Given the description of an element on the screen output the (x, y) to click on. 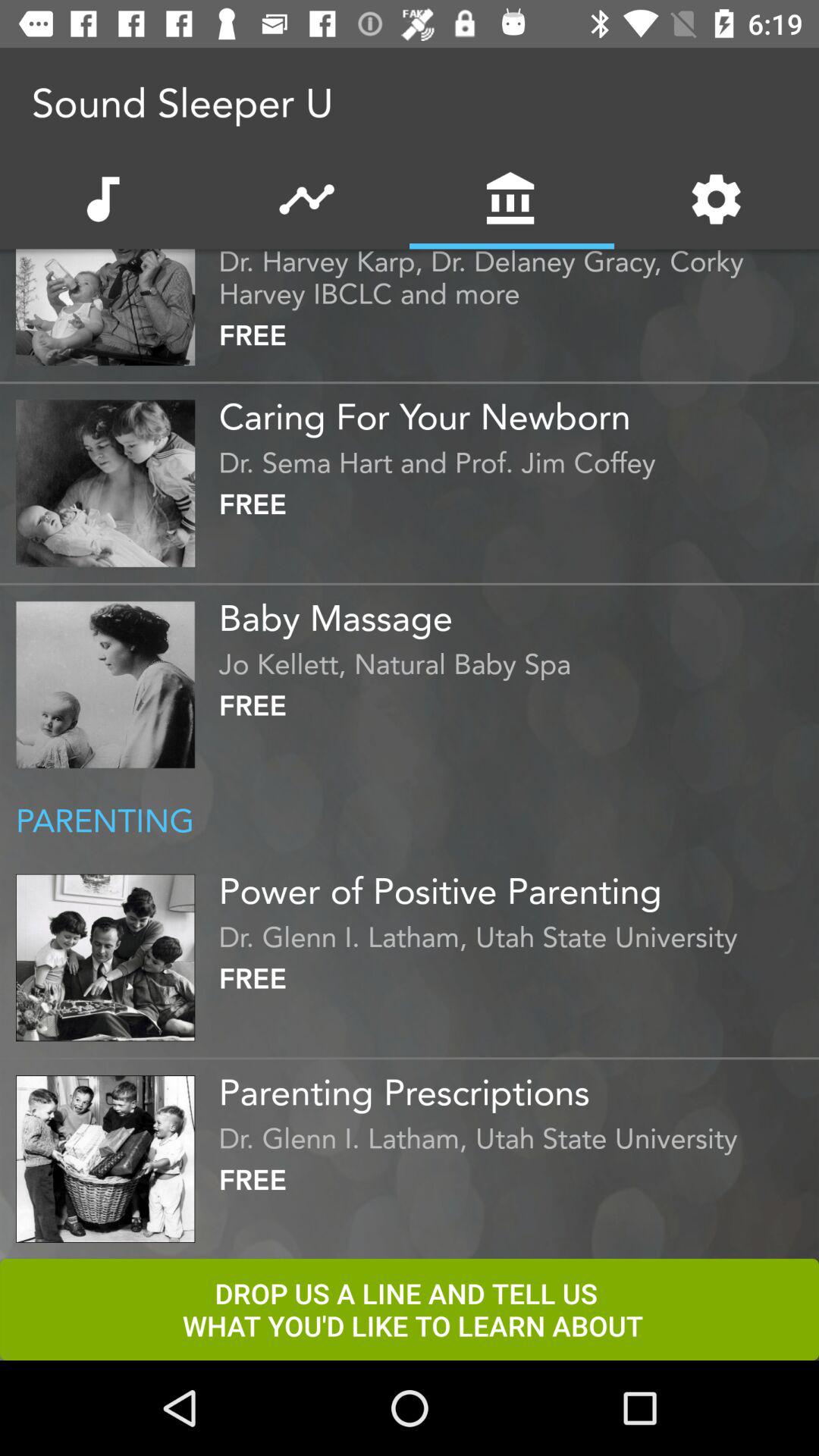
click baby massage (515, 612)
